Given the description of an element on the screen output the (x, y) to click on. 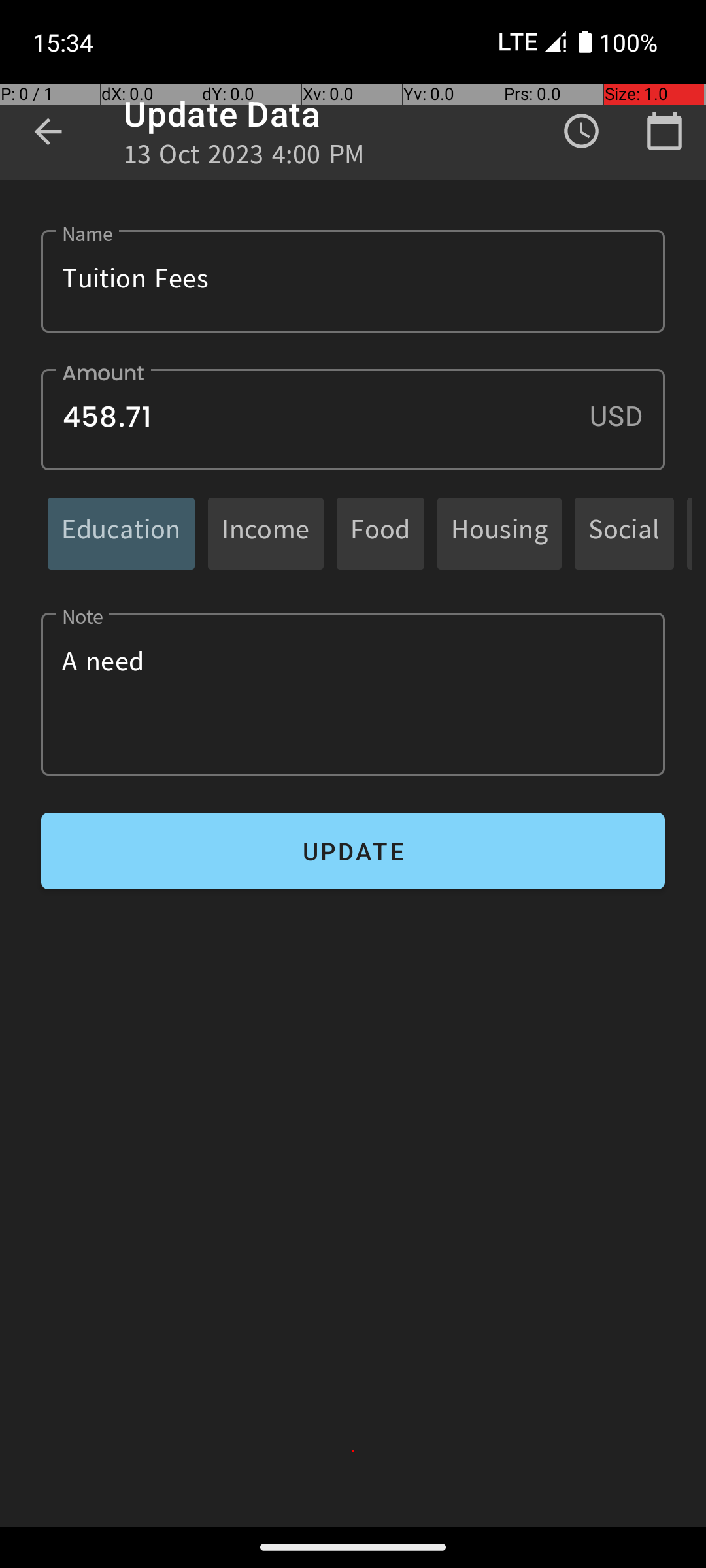
13 Oct 2023 4:00 PM Element type: android.widget.TextView (244, 157)
Tuition Fees Element type: android.widget.EditText (352, 280)
458.71 Element type: android.widget.EditText (352, 419)
Education Element type: android.widget.TextView (121, 533)
